Given the description of an element on the screen output the (x, y) to click on. 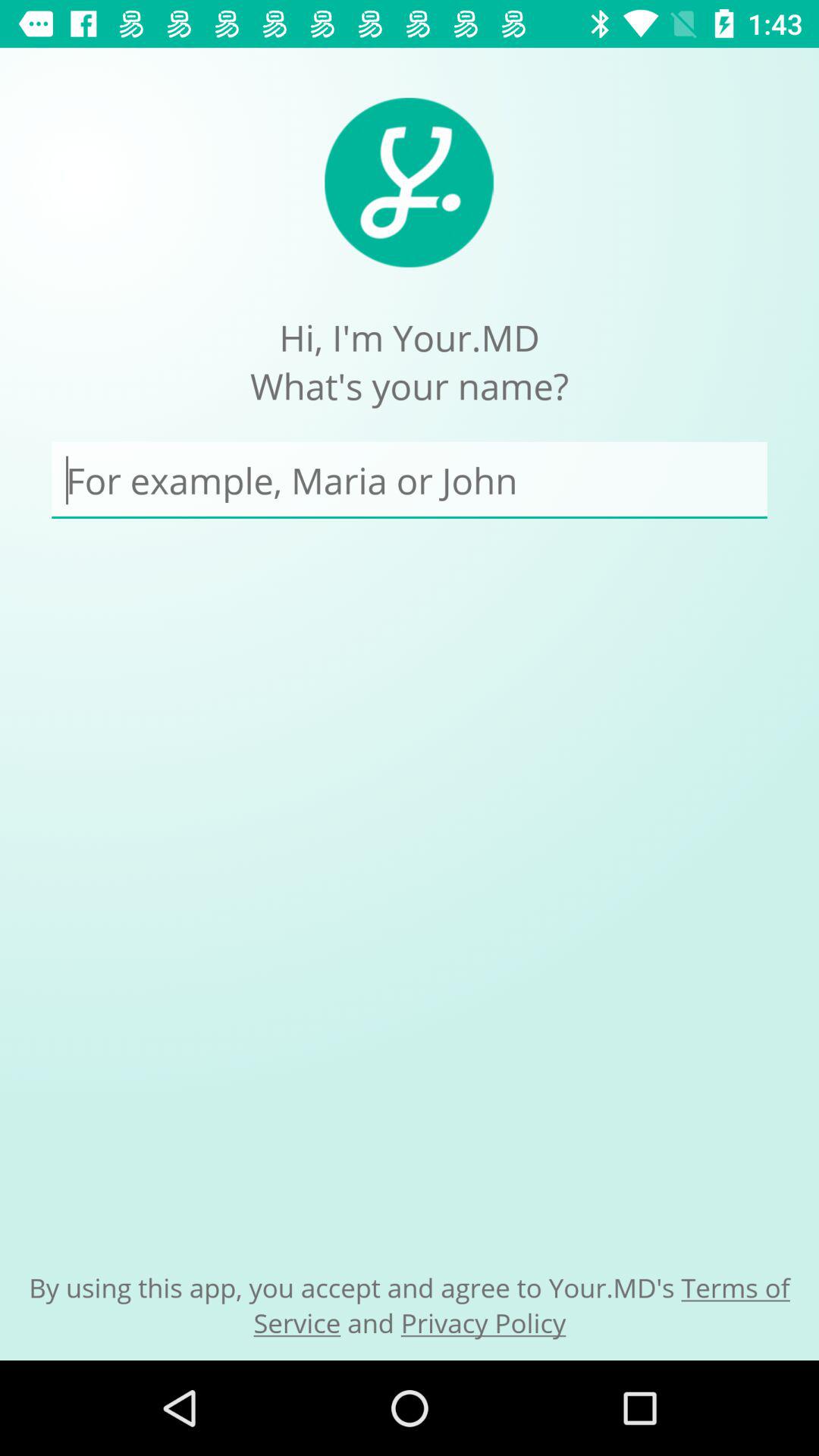
scroll to the by using this item (409, 1305)
